Given the description of an element on the screen output the (x, y) to click on. 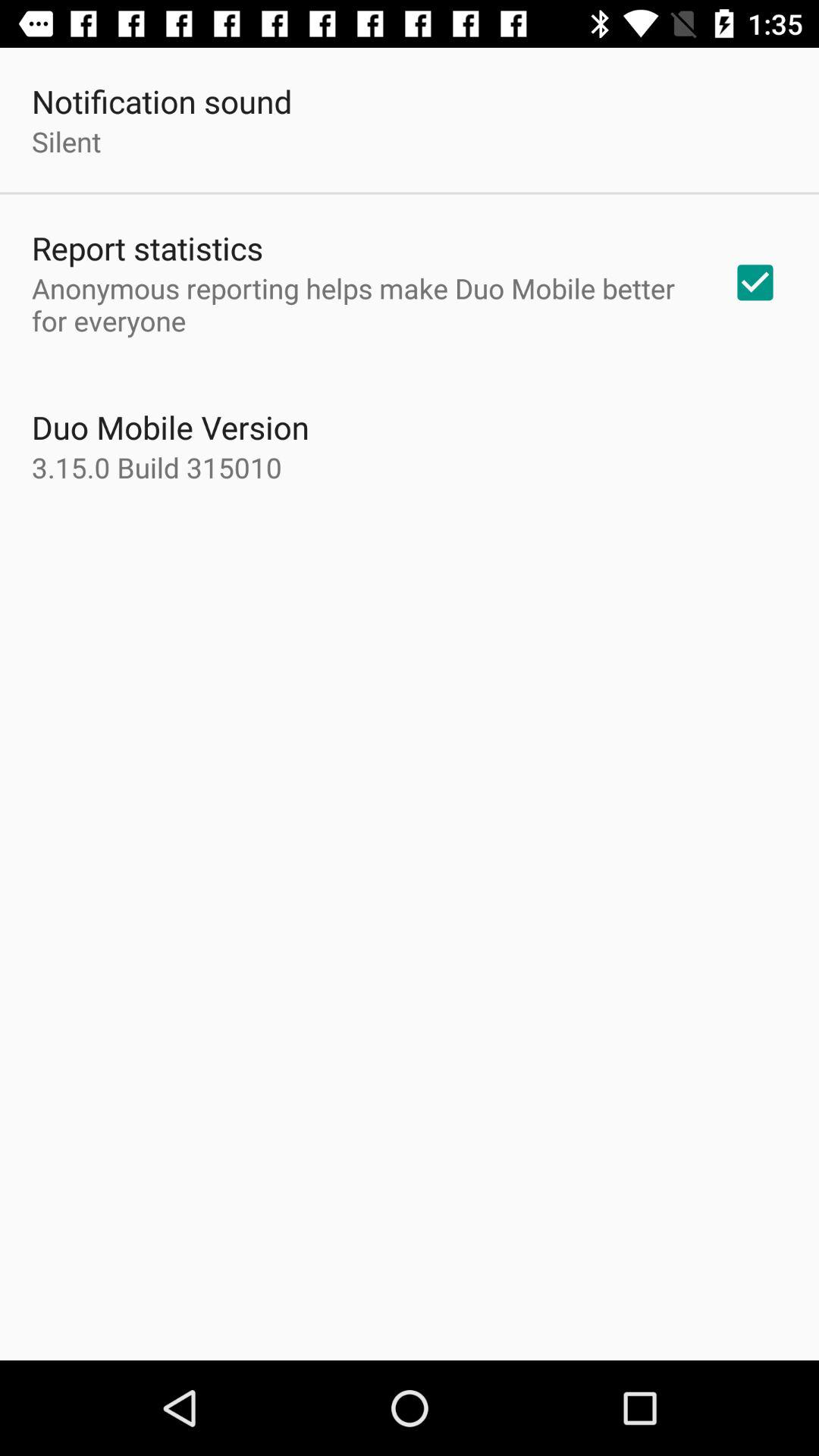
flip to silent app (66, 141)
